Given the description of an element on the screen output the (x, y) to click on. 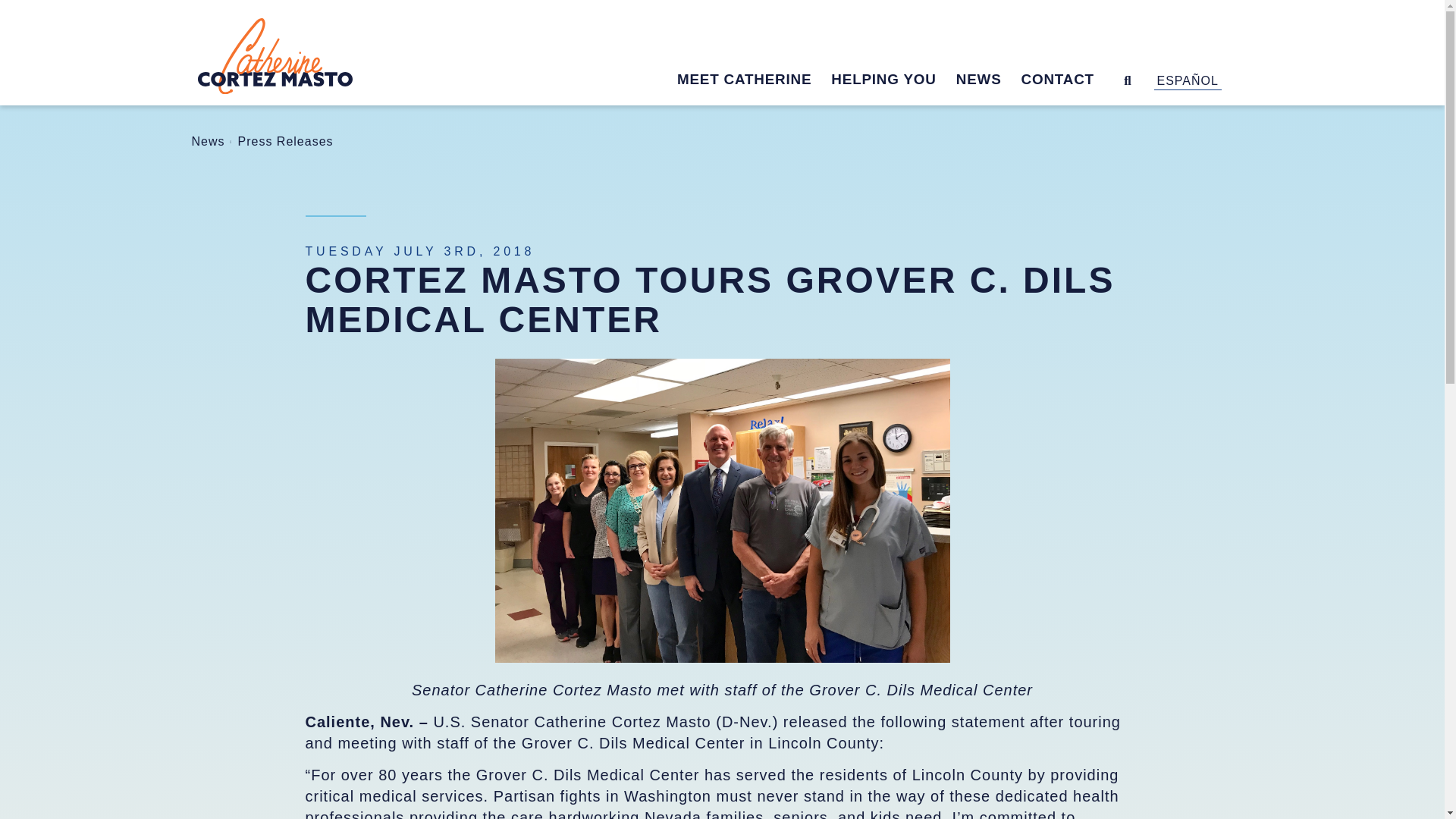
News (207, 141)
MEET CATHERINE (754, 81)
HELPING YOU (893, 81)
Press Releases (285, 141)
